Given the description of an element on the screen output the (x, y) to click on. 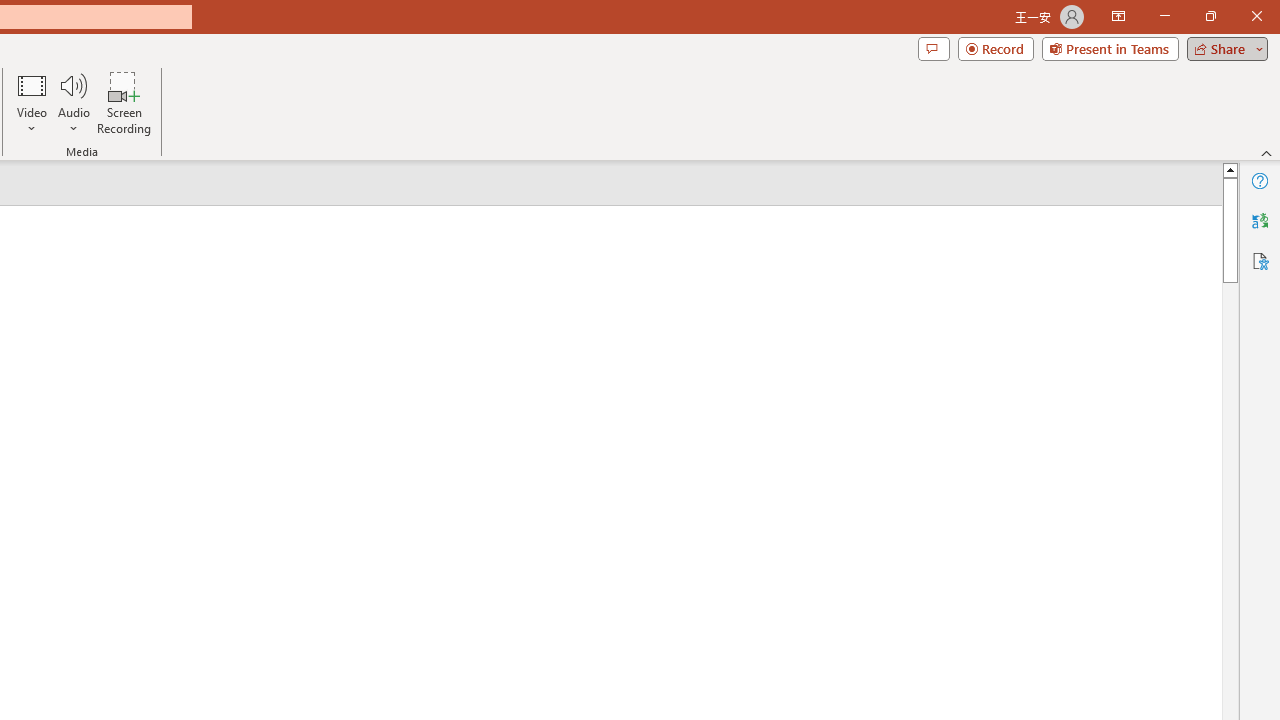
Audio (73, 102)
